Given the description of an element on the screen output the (x, y) to click on. 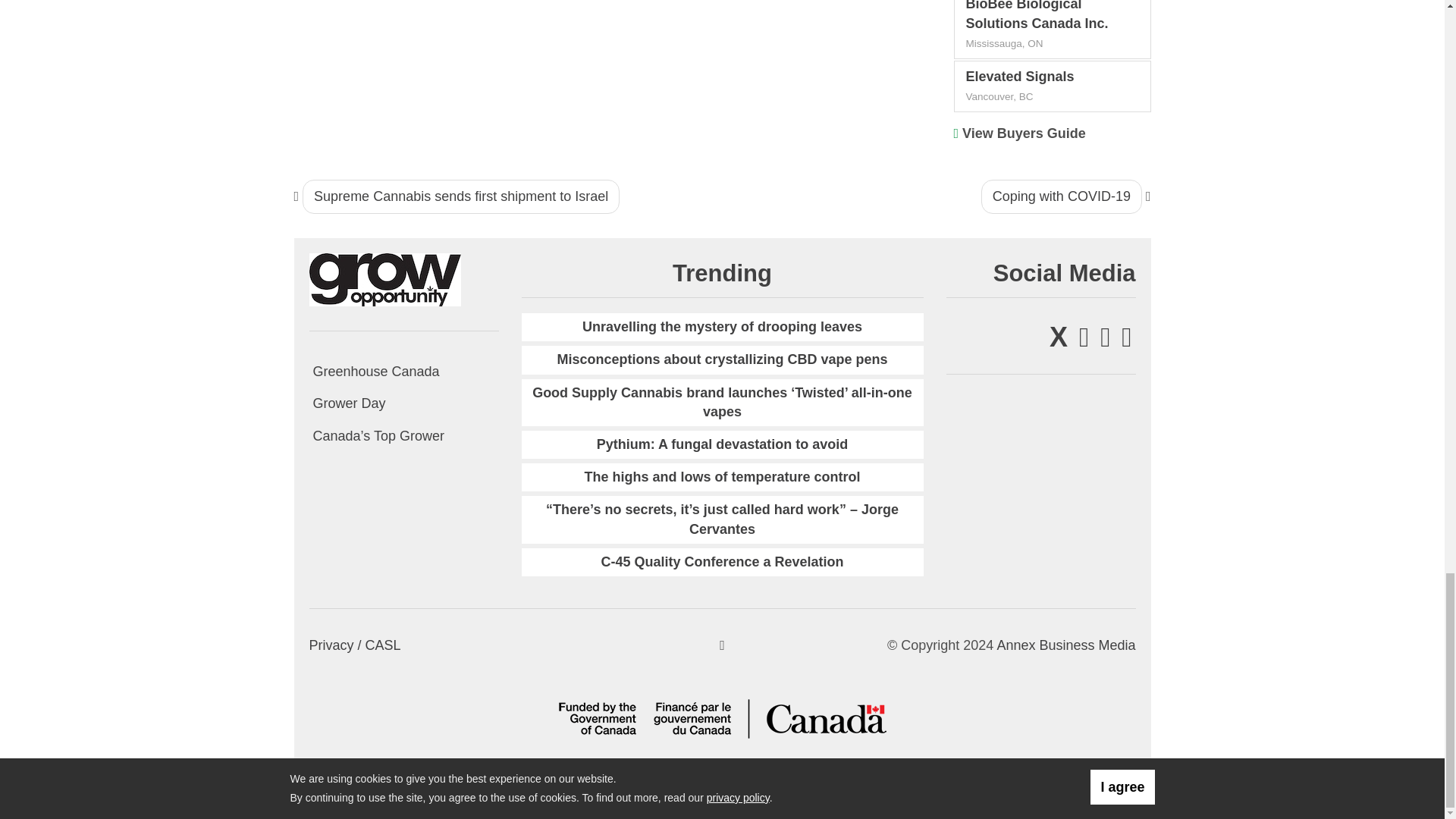
Annex Business Media (1065, 645)
Grow Opportunity (384, 278)
